Given the description of an element on the screen output the (x, y) to click on. 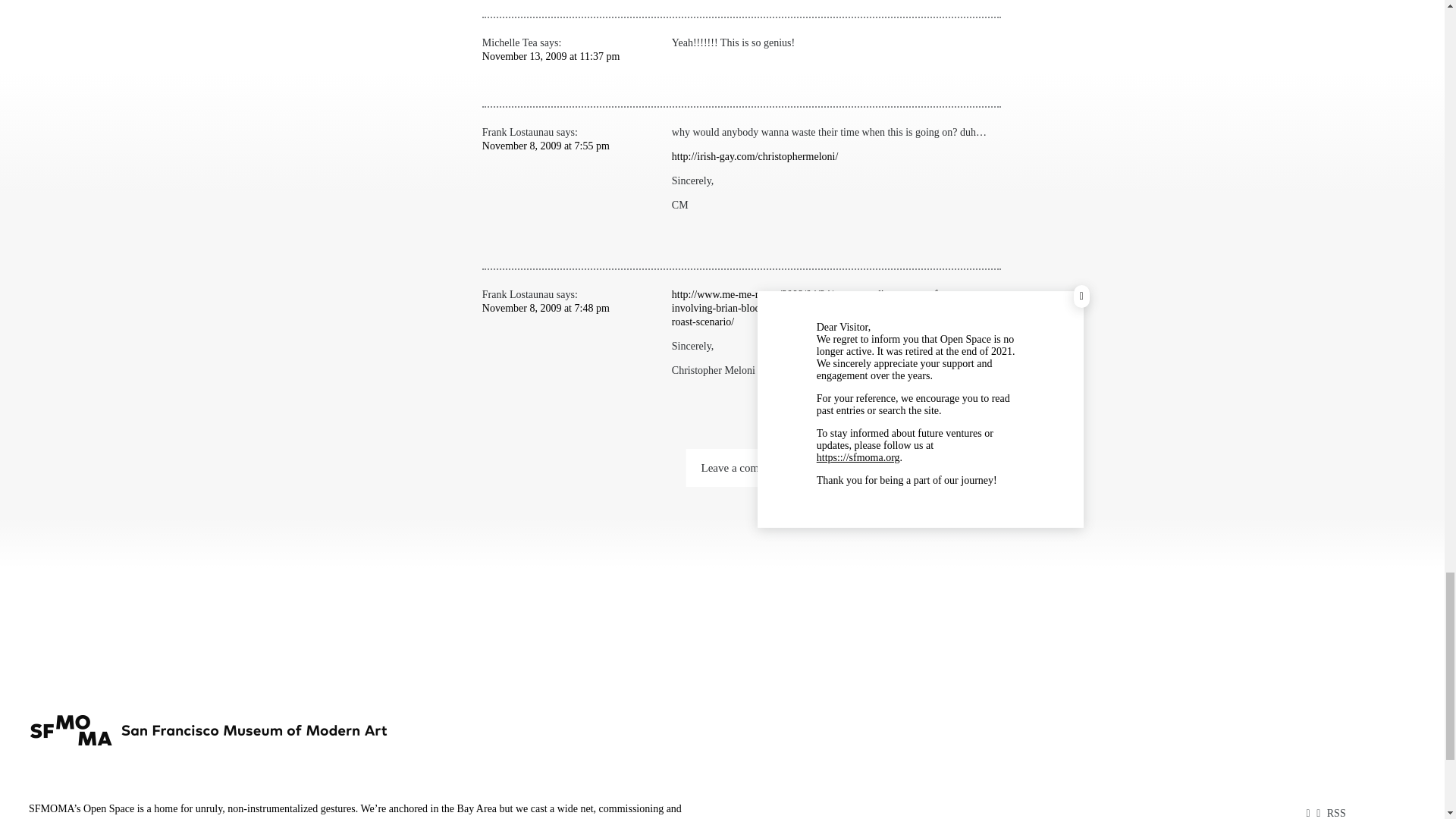
RSS (1335, 813)
November 8, 2009 at 7:48 pm (545, 307)
November 8, 2009 at 7:55 pm (545, 145)
November 13, 2009 at 11:37 pm (550, 56)
